Given the description of an element on the screen output the (x, y) to click on. 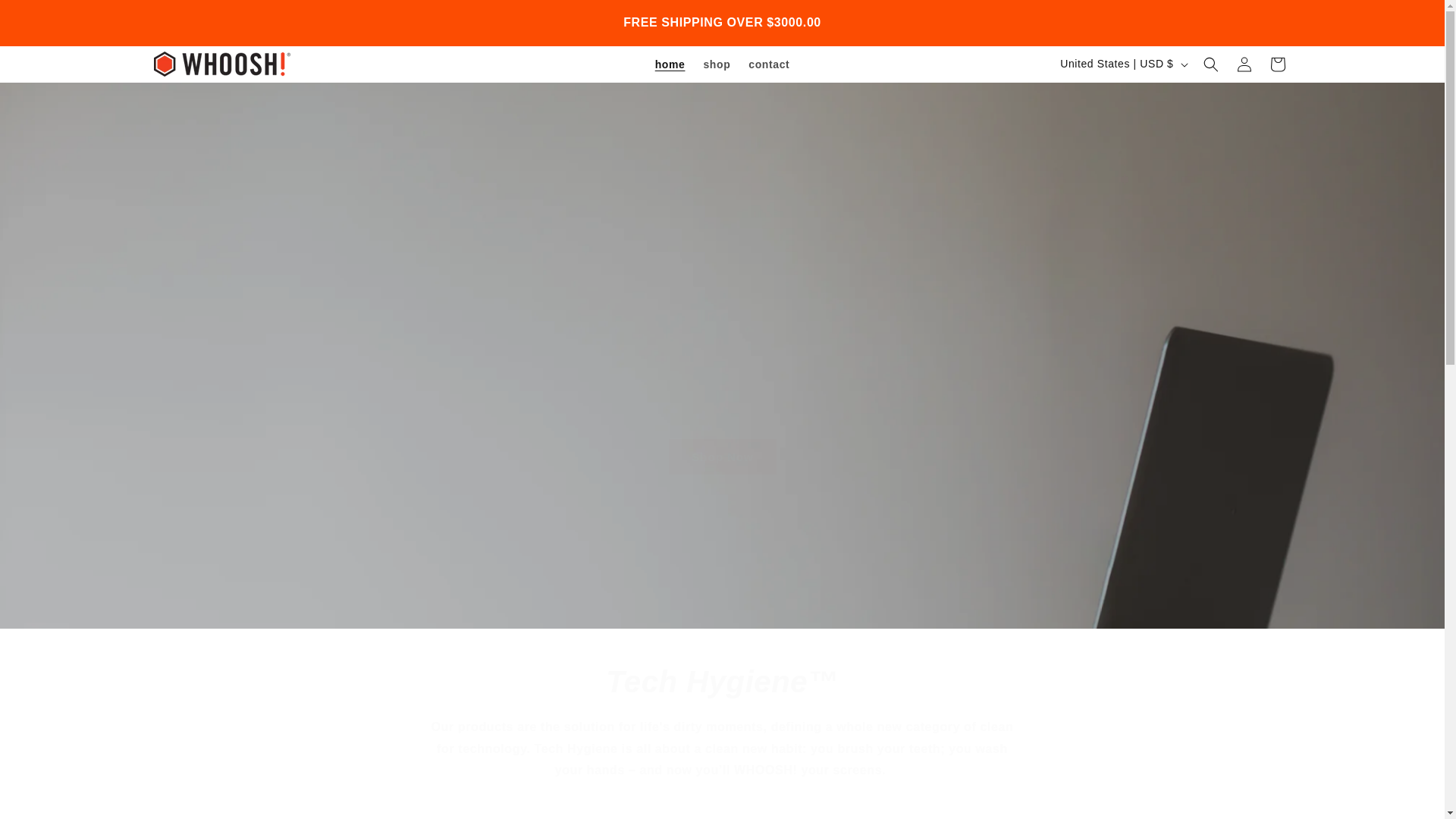
shop (716, 64)
Shop Now (722, 456)
Cart (1277, 64)
Log in (1243, 64)
Skip to content (45, 17)
home (670, 64)
contact (768, 64)
